Given the description of an element on the screen output the (x, y) to click on. 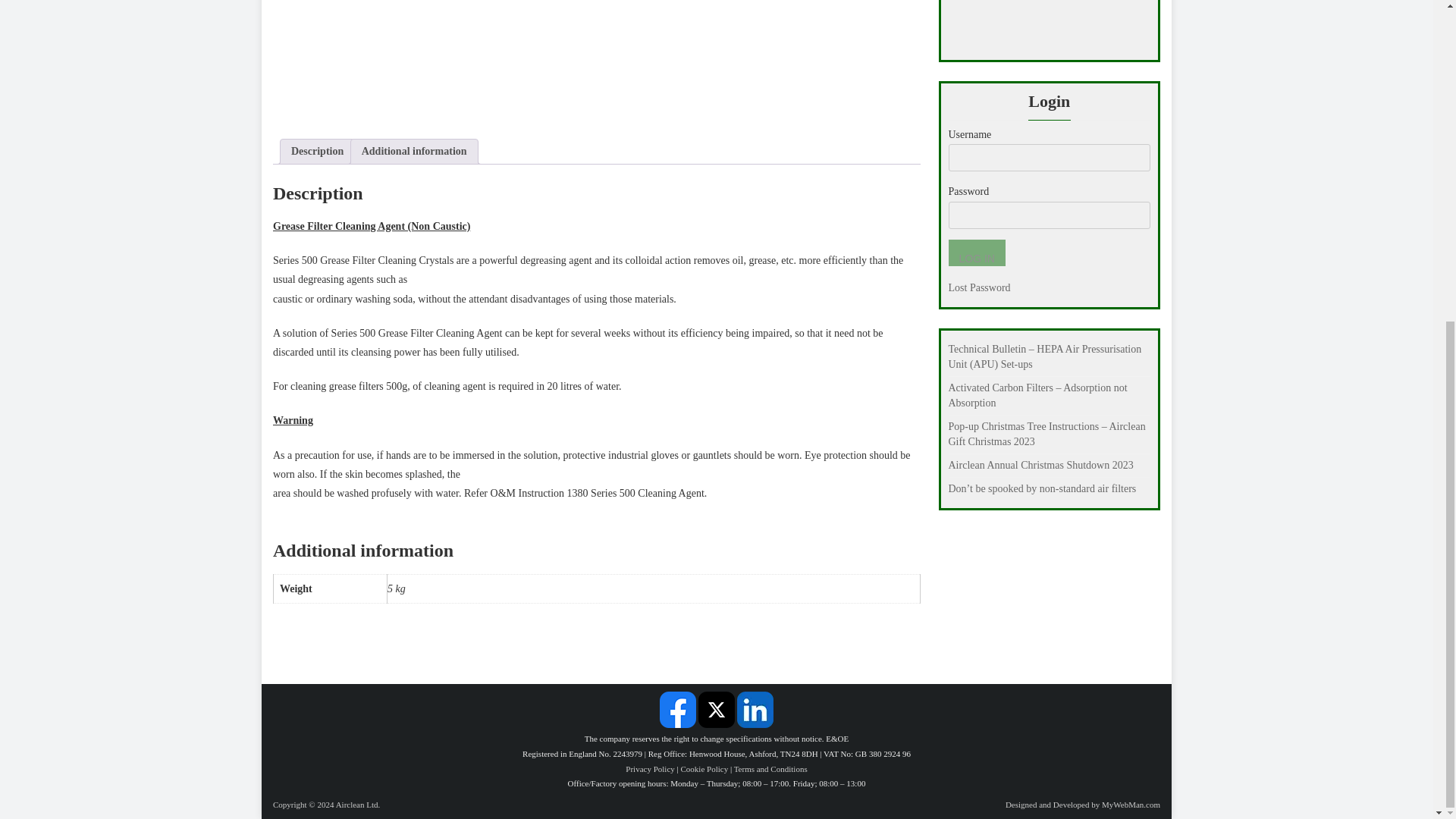
Log In (975, 252)
